Given the description of an element on the screen output the (x, y) to click on. 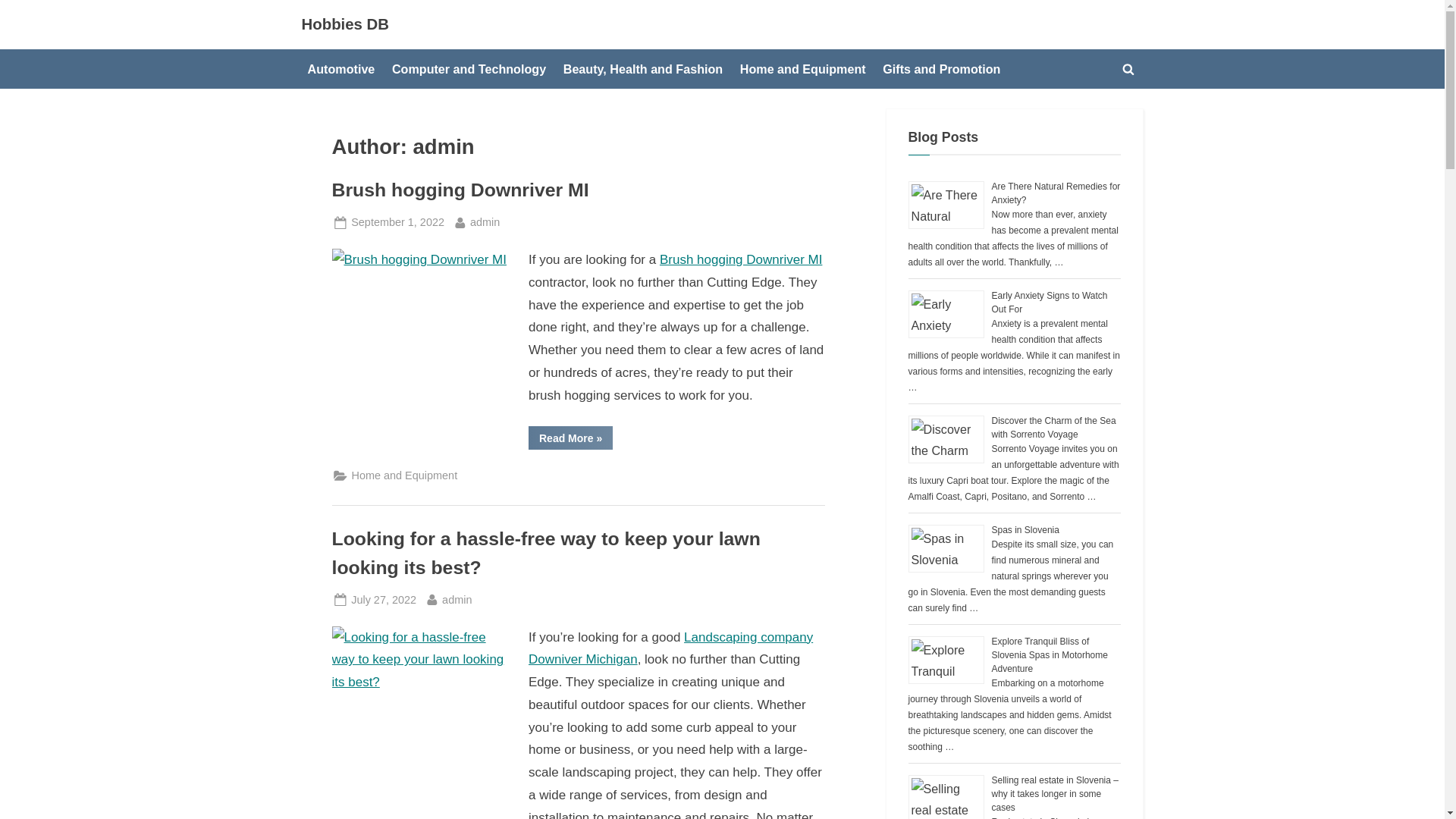
Computer and Technology (468, 68)
Hobbies DB (345, 23)
Home and Equipment (802, 68)
Beauty, Health and Fashion (643, 68)
Brush hogging Downriver MI (460, 189)
Gifts and Promotion (941, 68)
Home and Equipment (405, 475)
Automotive (341, 68)
Landscaping company Downiver Michigan (670, 647)
Brush hogging Downriver MI (740, 259)
